Given the description of an element on the screen output the (x, y) to click on. 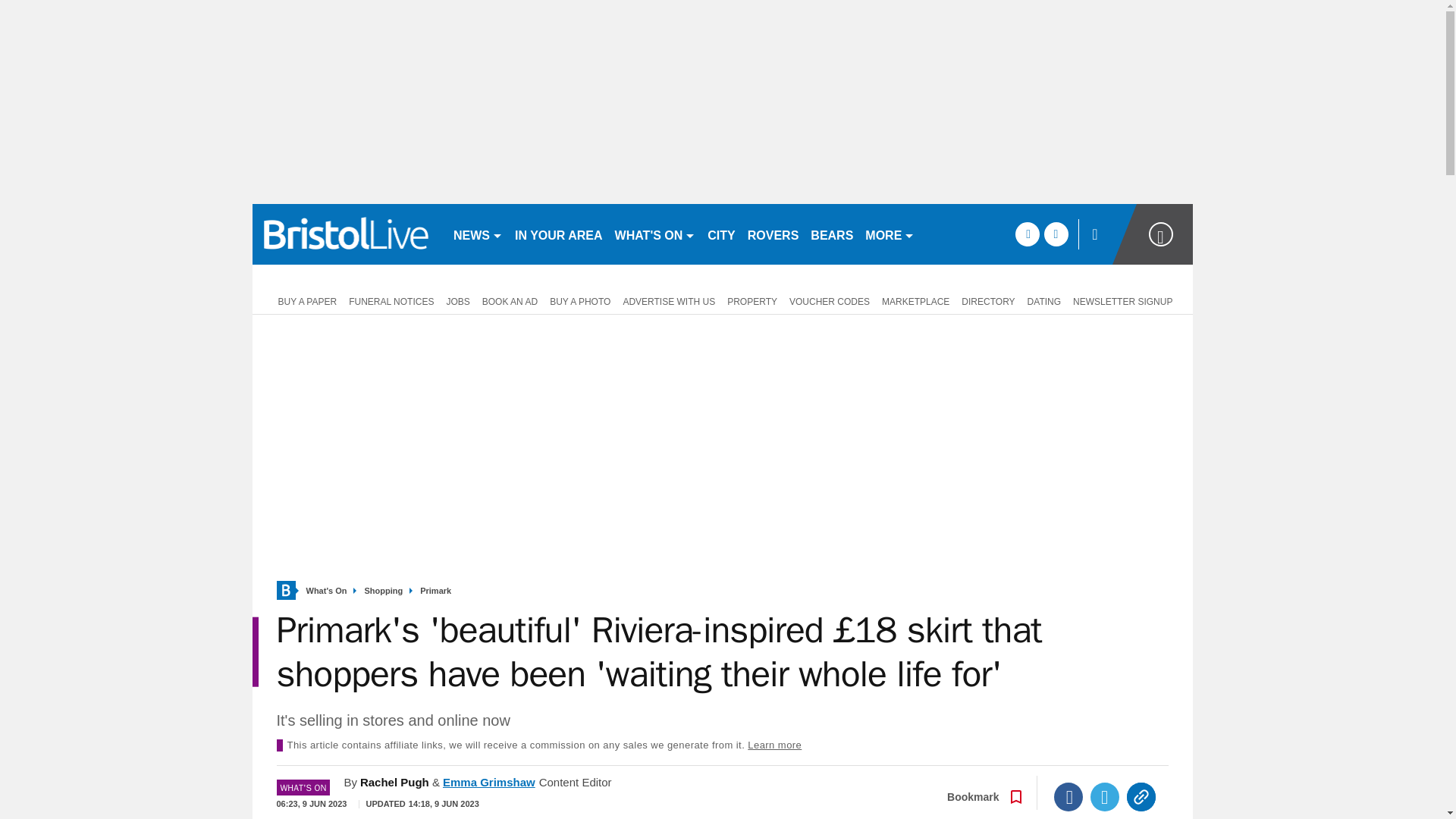
twitter (1055, 233)
ROVERS (773, 233)
MORE (889, 233)
NEWS (477, 233)
WHAT'S ON (654, 233)
facebook (1026, 233)
Facebook (1068, 796)
IN YOUR AREA (558, 233)
Twitter (1104, 796)
bristolpost (345, 233)
